Given the description of an element on the screen output the (x, y) to click on. 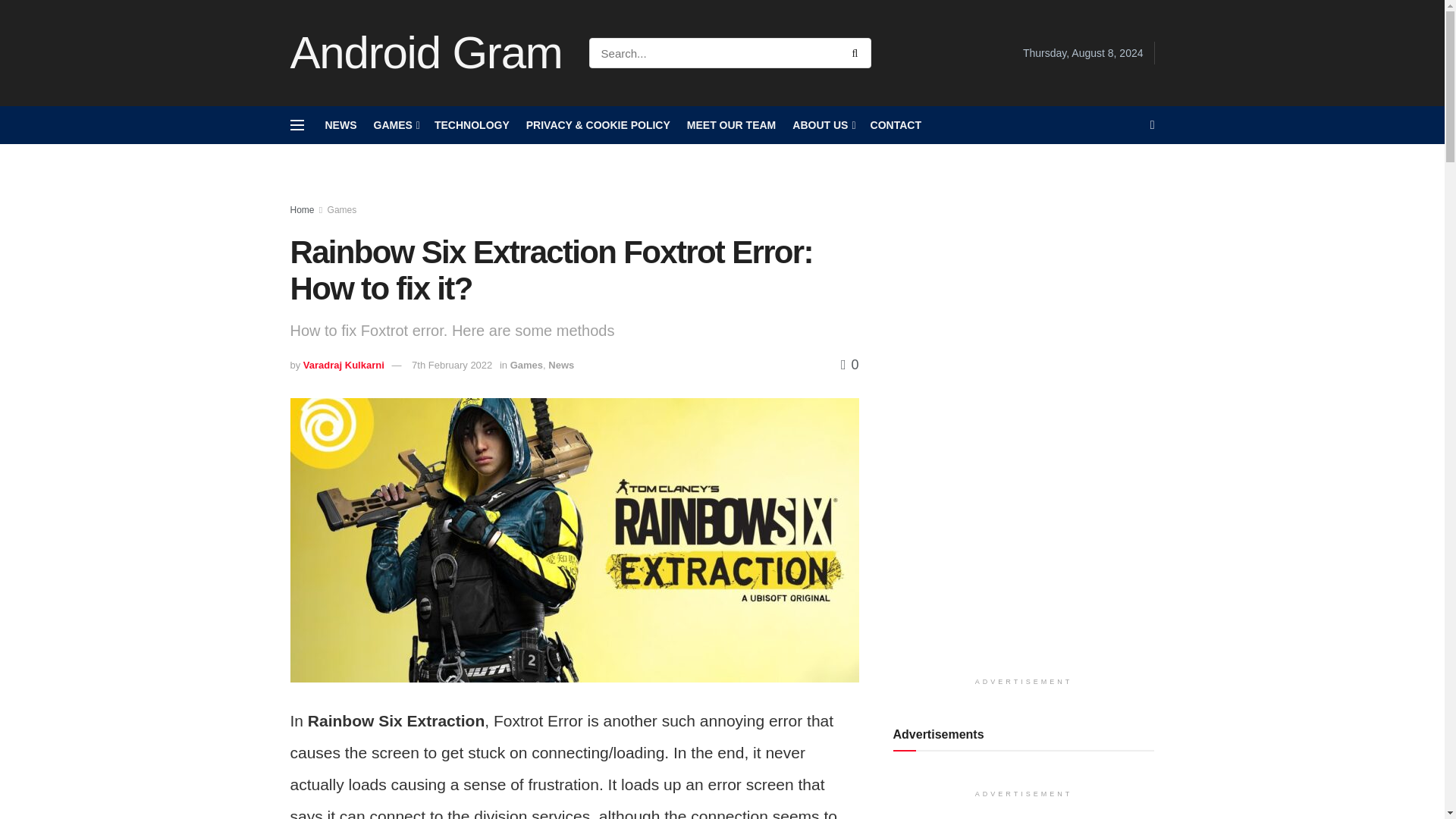
News (560, 365)
TECHNOLOGY (471, 125)
0 (850, 364)
GAMES (394, 125)
Android Gram (425, 53)
MEET OUR TEAM (731, 125)
CONTACT (895, 125)
ABOUT US (822, 125)
Home (301, 209)
7th February 2022 (452, 365)
